Given the description of an element on the screen output the (x, y) to click on. 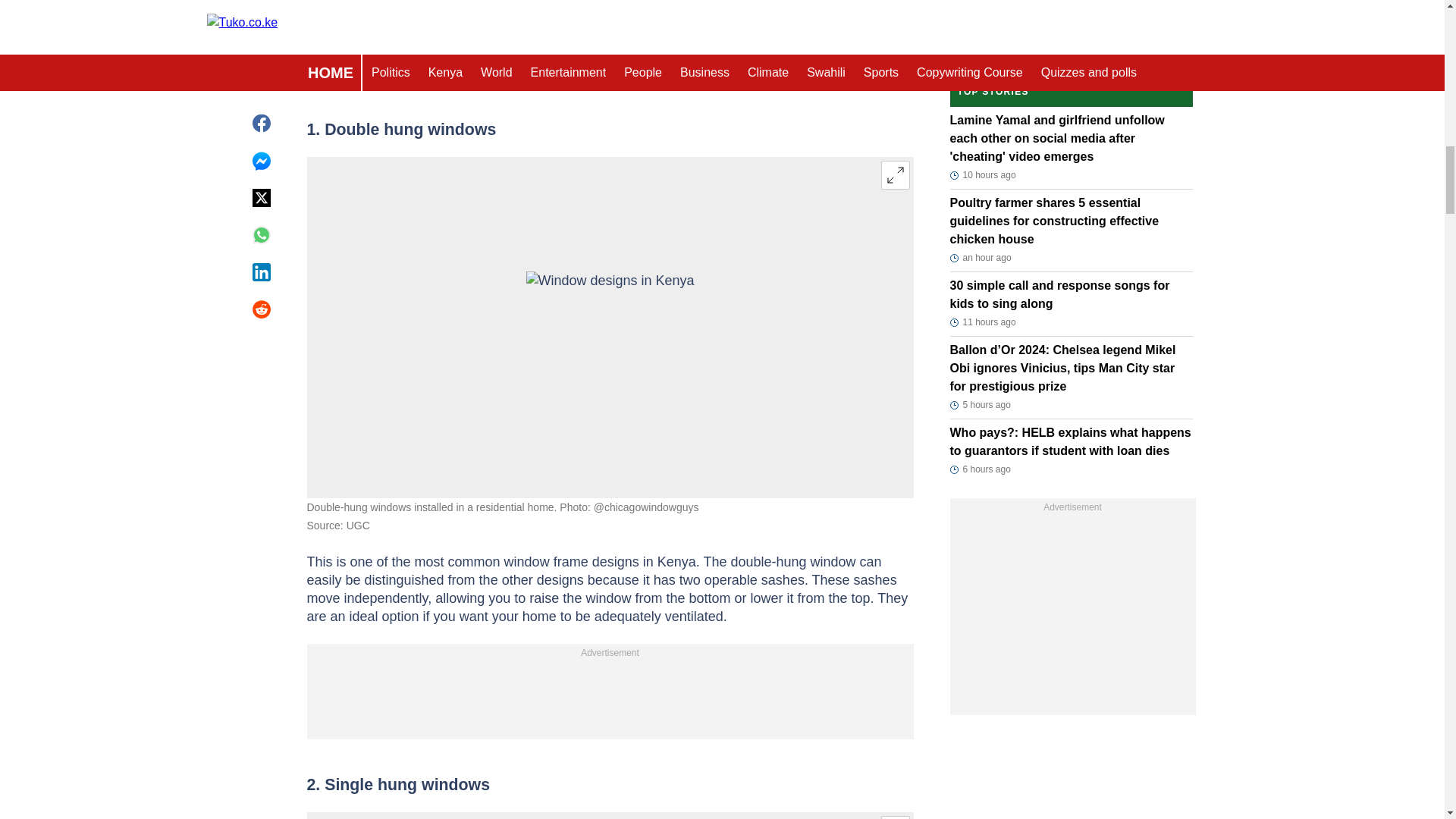
Expand image (895, 817)
Expand image (895, 174)
Window designs in Kenya (609, 327)
